Given the description of an element on the screen output the (x, y) to click on. 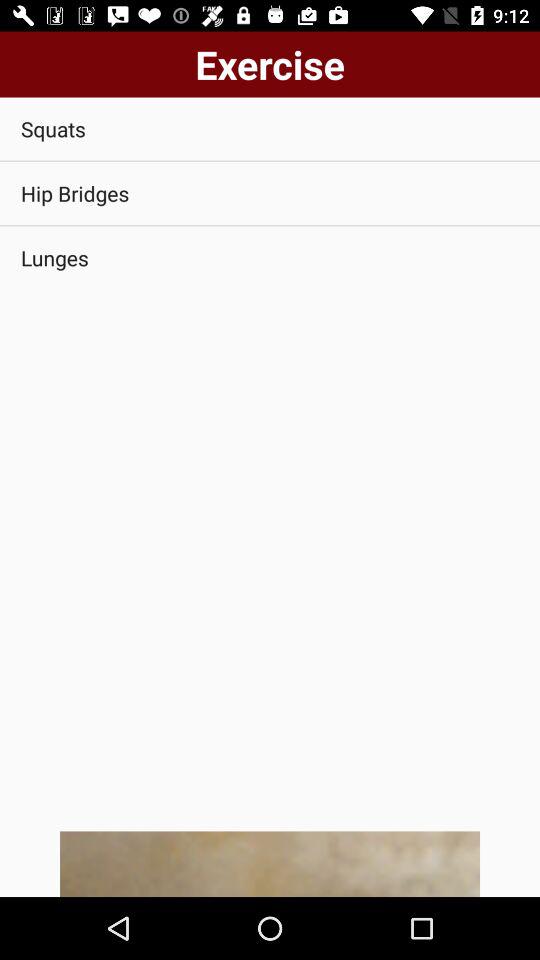
swipe until the hip bridges item (270, 193)
